Given the description of an element on the screen output the (x, y) to click on. 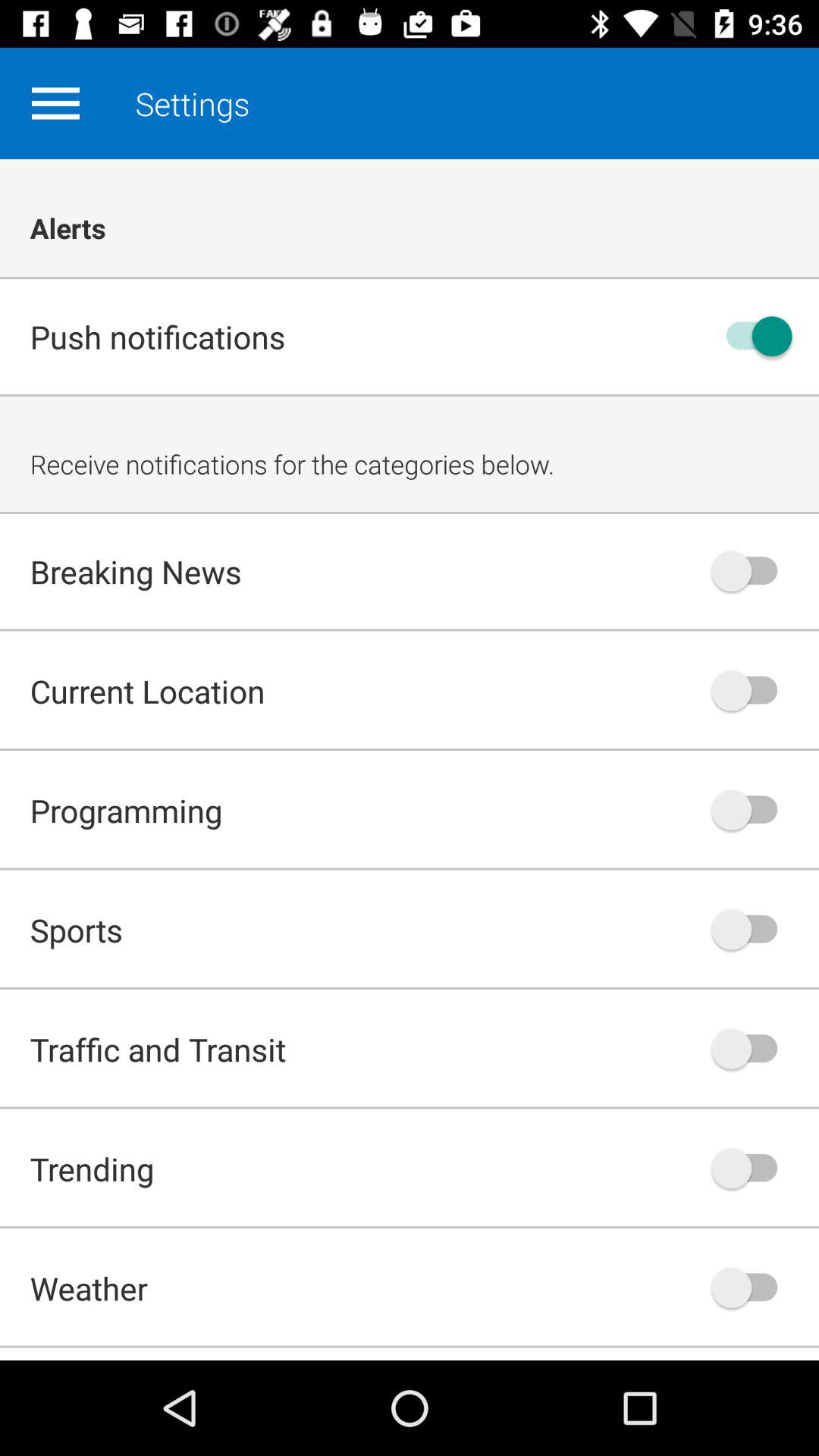
toggle on (751, 1049)
